Given the description of an element on the screen output the (x, y) to click on. 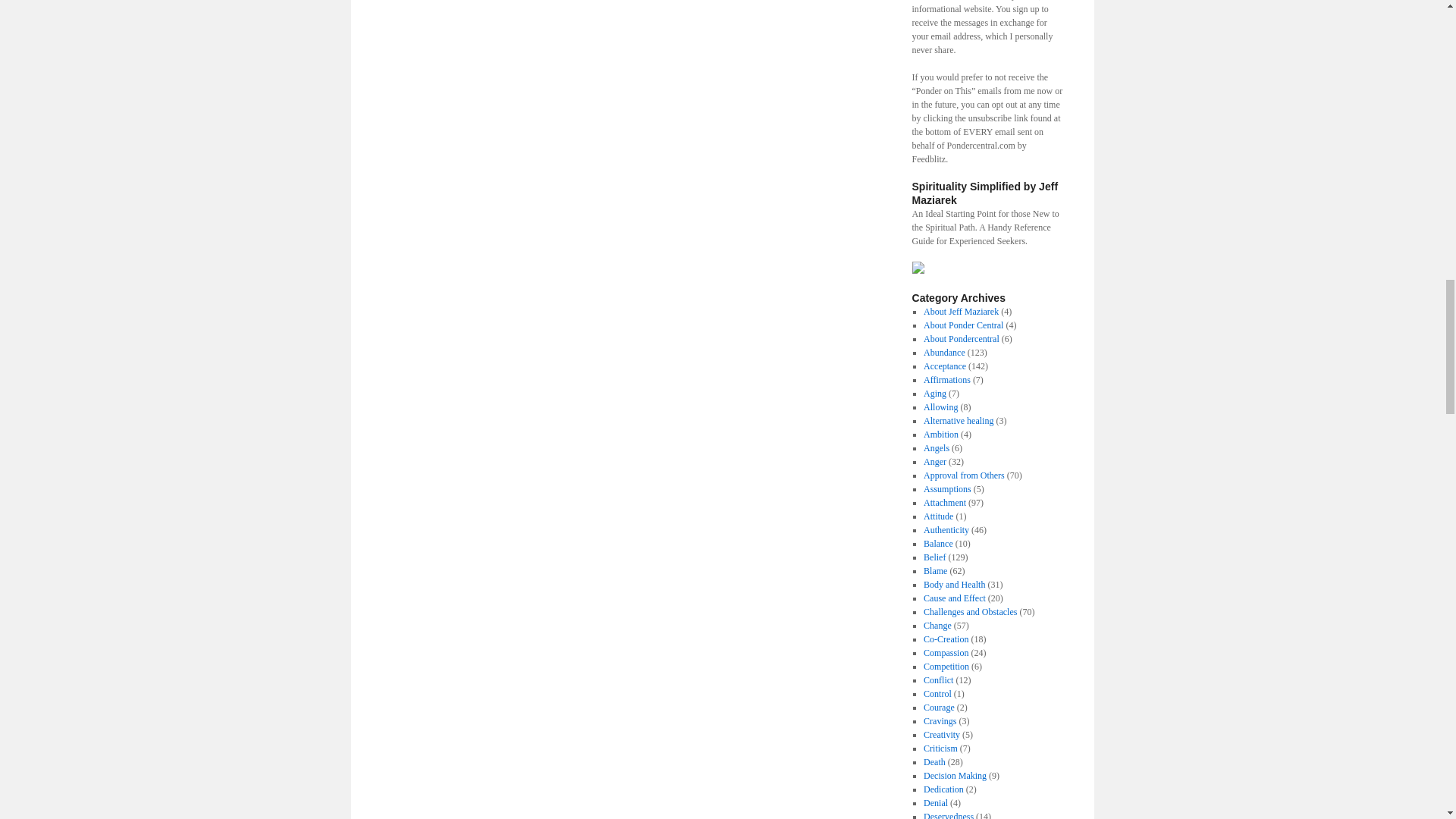
About Jeff Maziarek (960, 311)
About Pondercentral (960, 338)
Acceptance (944, 366)
Affirmations (947, 379)
Allowing (940, 407)
About Ponder Central (963, 325)
Alternative healing (957, 420)
Aging (934, 393)
Abundance (944, 352)
